Given the description of an element on the screen output the (x, y) to click on. 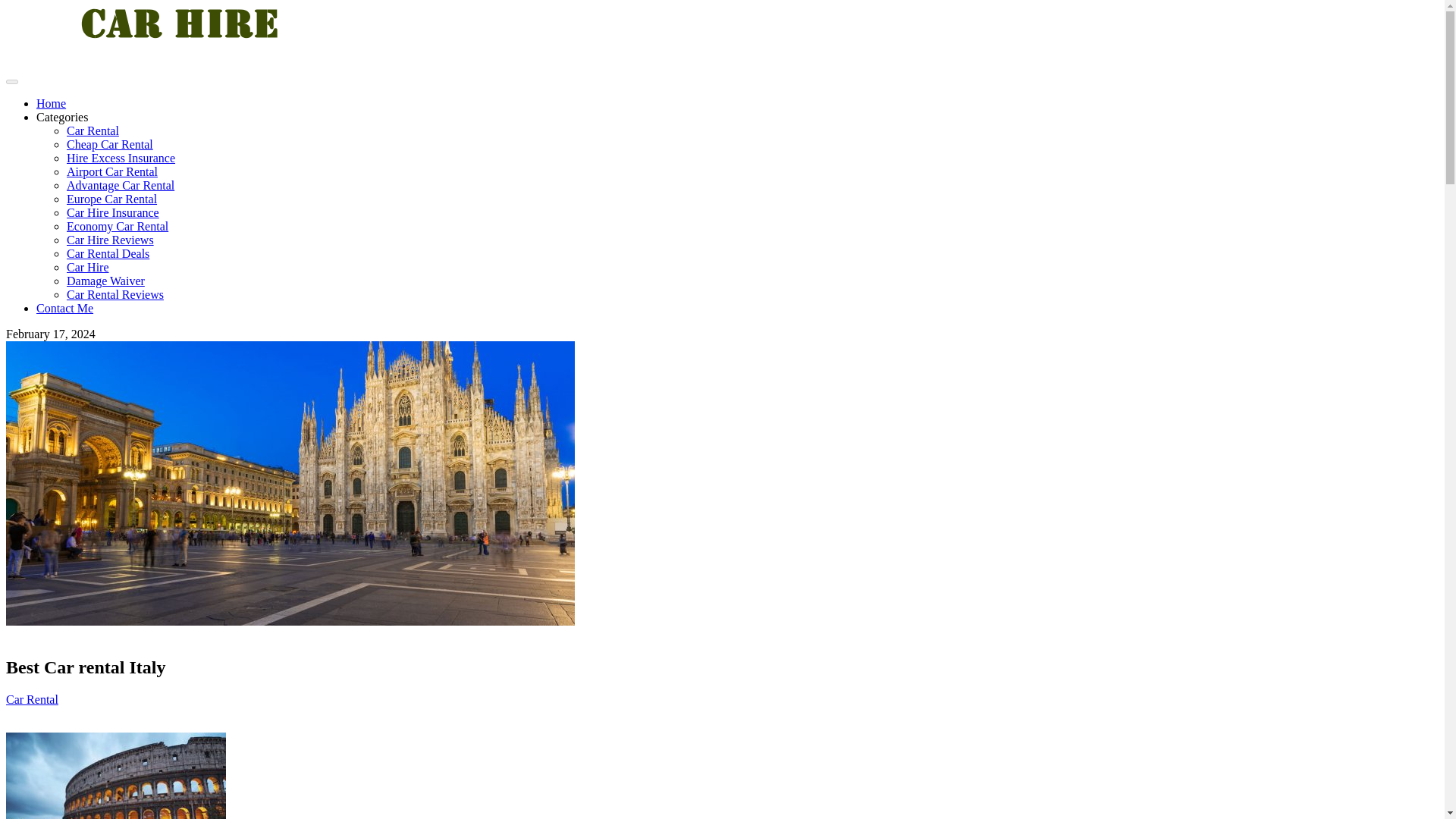
Car Hire Reviews (110, 239)
Car Rental (92, 130)
Categories (61, 116)
Car Rental (31, 698)
Car Hire Insurance (112, 212)
Car Rental Deals (107, 253)
Europe Car Rental (111, 198)
Cheap Car Rental (109, 144)
Damage Waiver (105, 280)
Advantage Car Rental (120, 185)
Car Hire (87, 267)
Car Rental Reviews (114, 294)
Contact Me (64, 308)
Home (50, 103)
Economy Car Rental (117, 226)
